Given the description of an element on the screen output the (x, y) to click on. 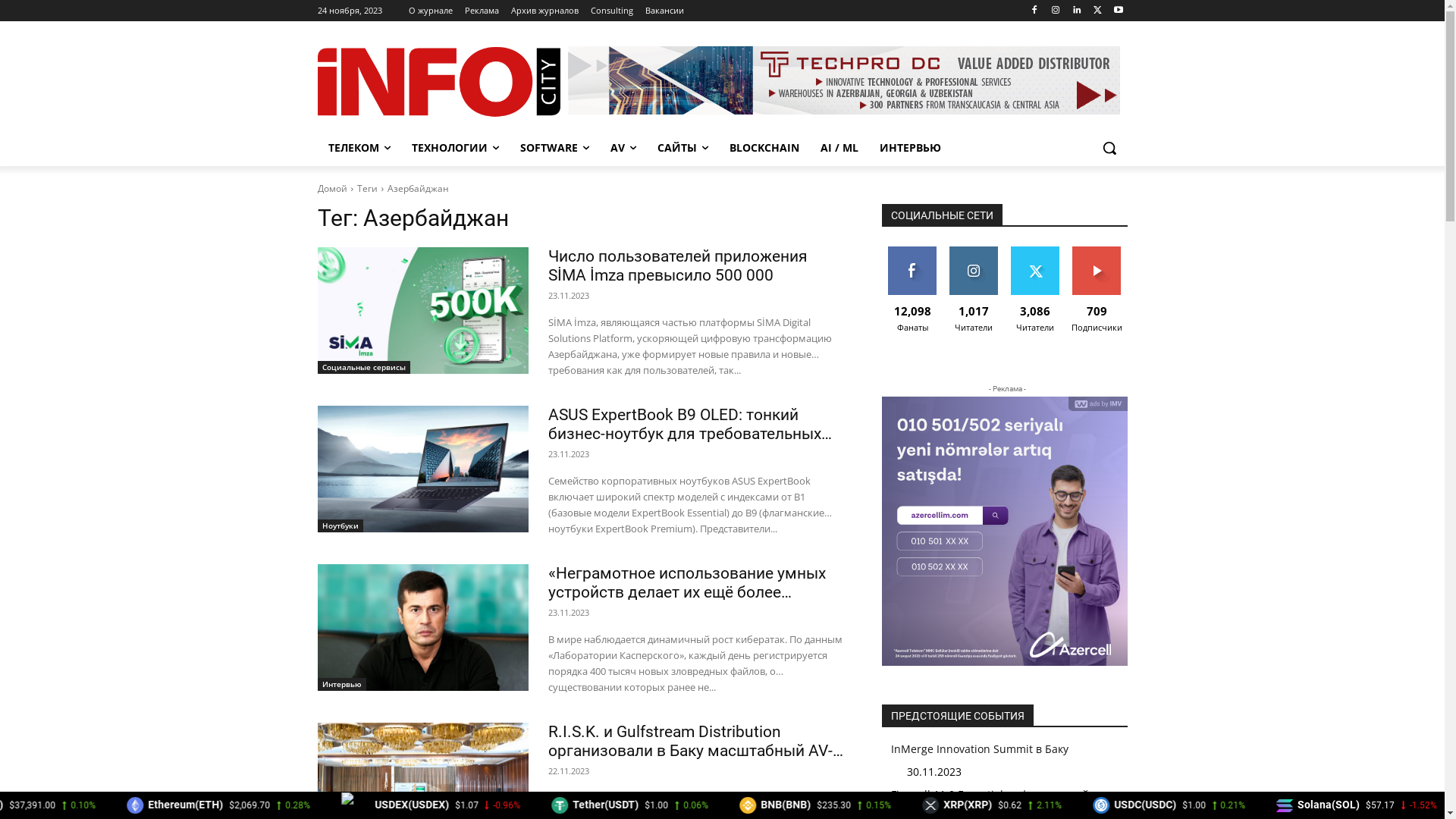
Linkedin Element type: hover (1076, 9)
SOFTWARE Element type: text (554, 147)
Youtube Element type: hover (1118, 9)
Twitter Element type: hover (1097, 9)
Consulting Element type: text (610, 10)
Instagram Element type: hover (1054, 9)
AI / ML Element type: text (839, 147)
AV Element type: text (622, 147)
Facebook Element type: hover (1034, 9)
BLOCKCHAIN Element type: text (763, 147)
